Given the description of an element on the screen output the (x, y) to click on. 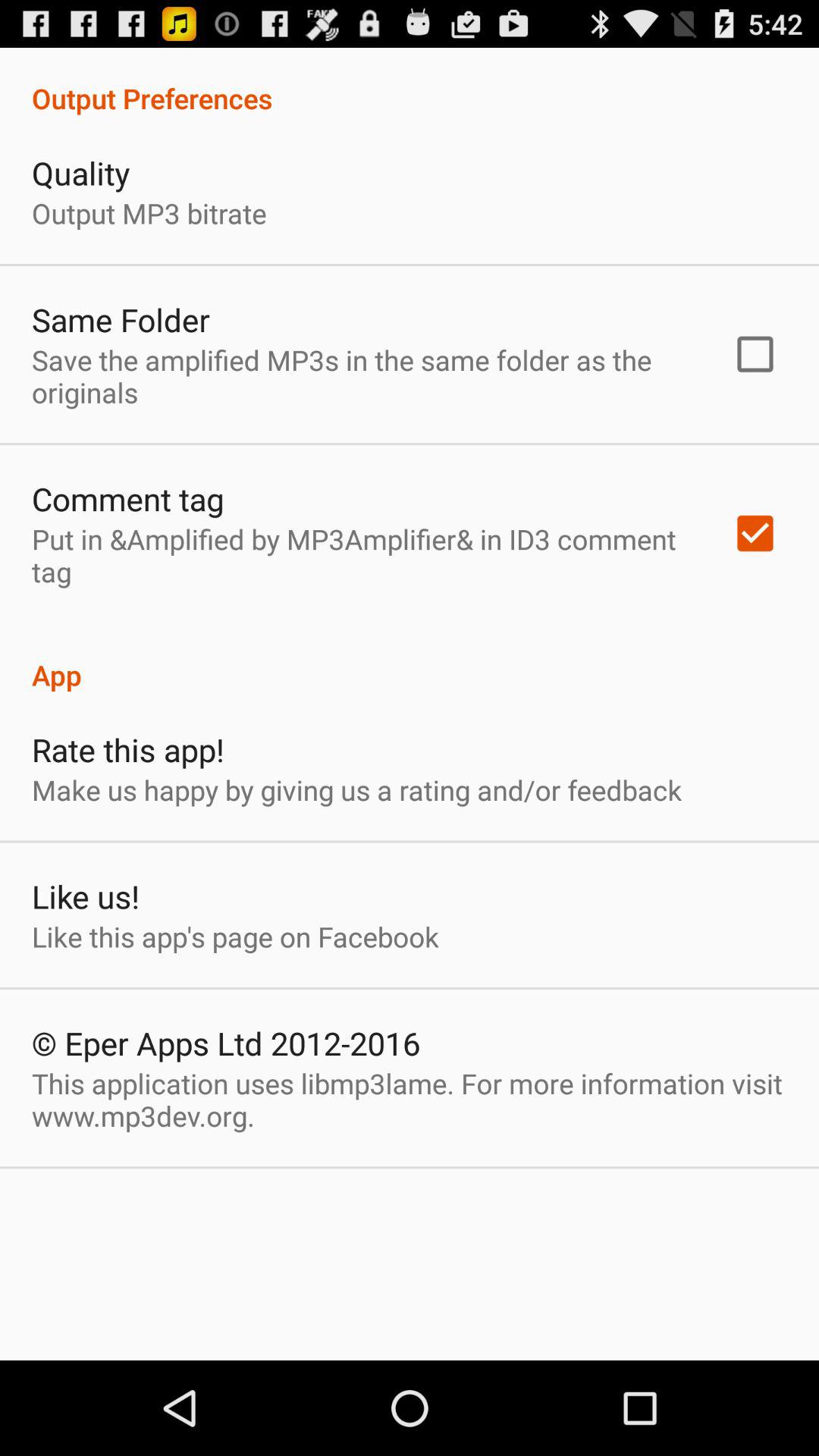
tap the icon below the same folder item (361, 376)
